Given the description of an element on the screen output the (x, y) to click on. 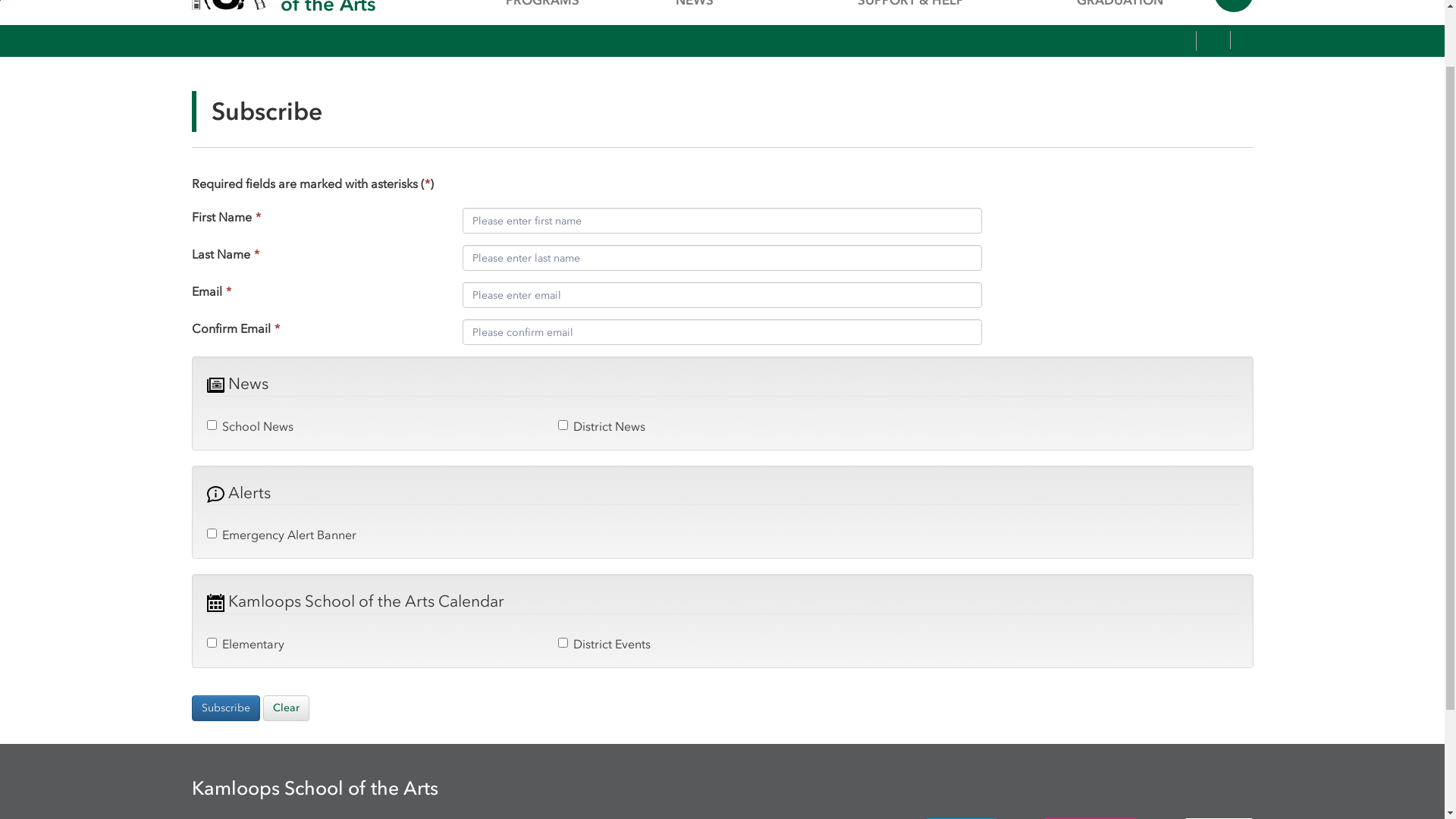
  Element type: text (1245, 112)
Feedback Element type: text (1012, 15)
Default text size Element type: hover (1162, 112)
Increase text size Element type: hover (1181, 112)
OUR SCHOOLS
PROGRAMS Element type: text (557, 63)
Print This Page Element type: hover (1212, 112)
MyEdBC Element type: text (1072, 15)
Decrease text size Element type: hover (1146, 112)
Clear Element type: text (285, 779)
Click to return to the homepage Element type: hover (235, 63)
PATH TO
GRADUATION Element type: text (1120, 63)
Kamloops School
of the Arts Element type: text (360, 63)
School District No.73 Element type: text (257, 15)
WHAT'S HAPPENING
NEWS Element type: text (745, 63)
I'D LIKE TO... Element type: text (1184, 15)
PARENTS & STUDENTS
SUPPORT & HELP Element type: text (932, 63)
Skip to Content Element type: text (0, 71)
Search Element type: text (1232, 63)
Home Element type: text (965, 15)
Subscribe Element type: text (225, 779)
